Given the description of an element on the screen output the (x, y) to click on. 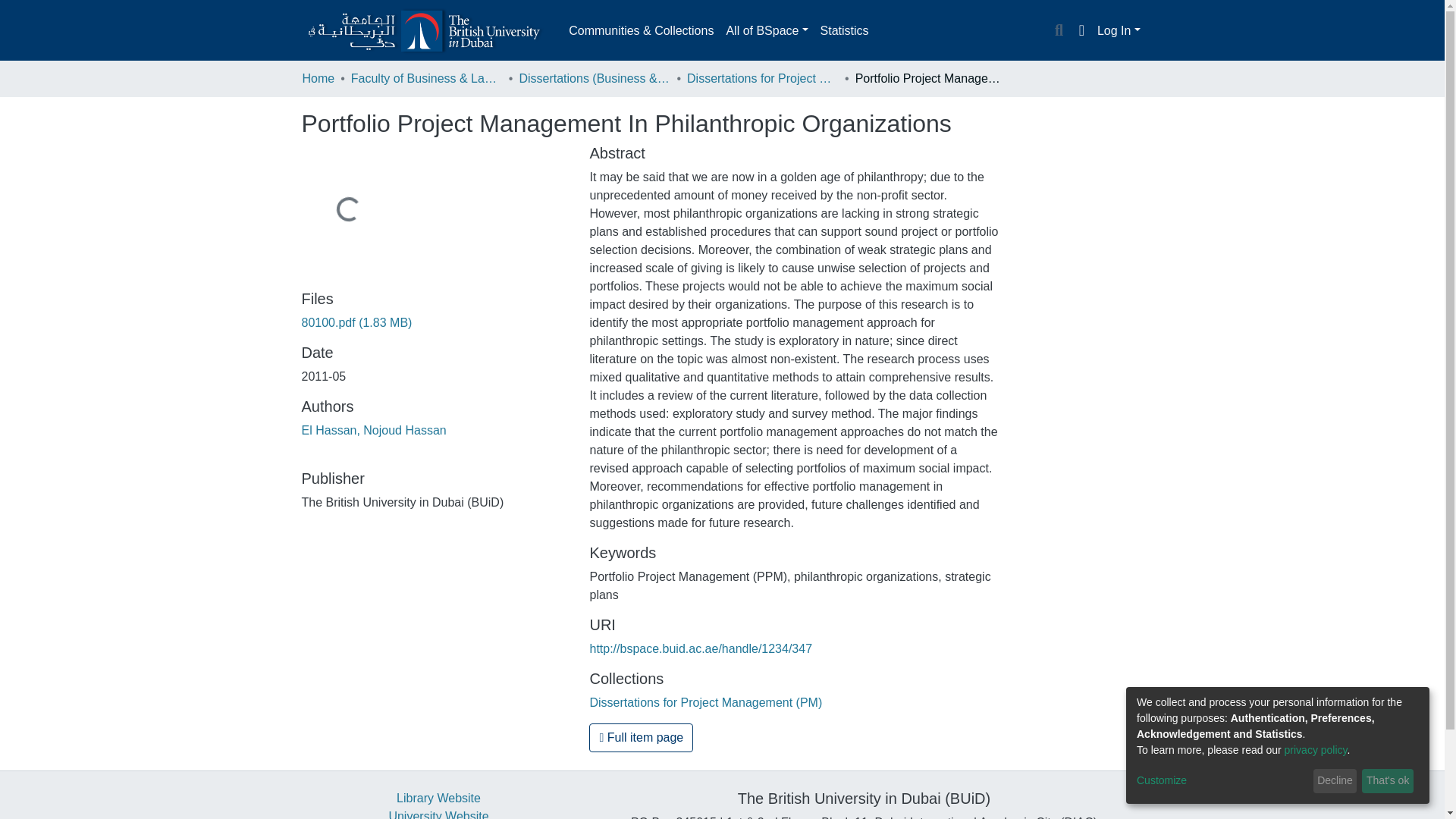
Search (1058, 30)
Home (317, 78)
El Hassan, Nojoud Hassan (373, 430)
Decline (1334, 781)
Customize (1222, 780)
Full item page (641, 737)
All of BSpace (766, 30)
Statistics (844, 30)
Statistics (844, 30)
Log In (1118, 30)
